Given the description of an element on the screen output the (x, y) to click on. 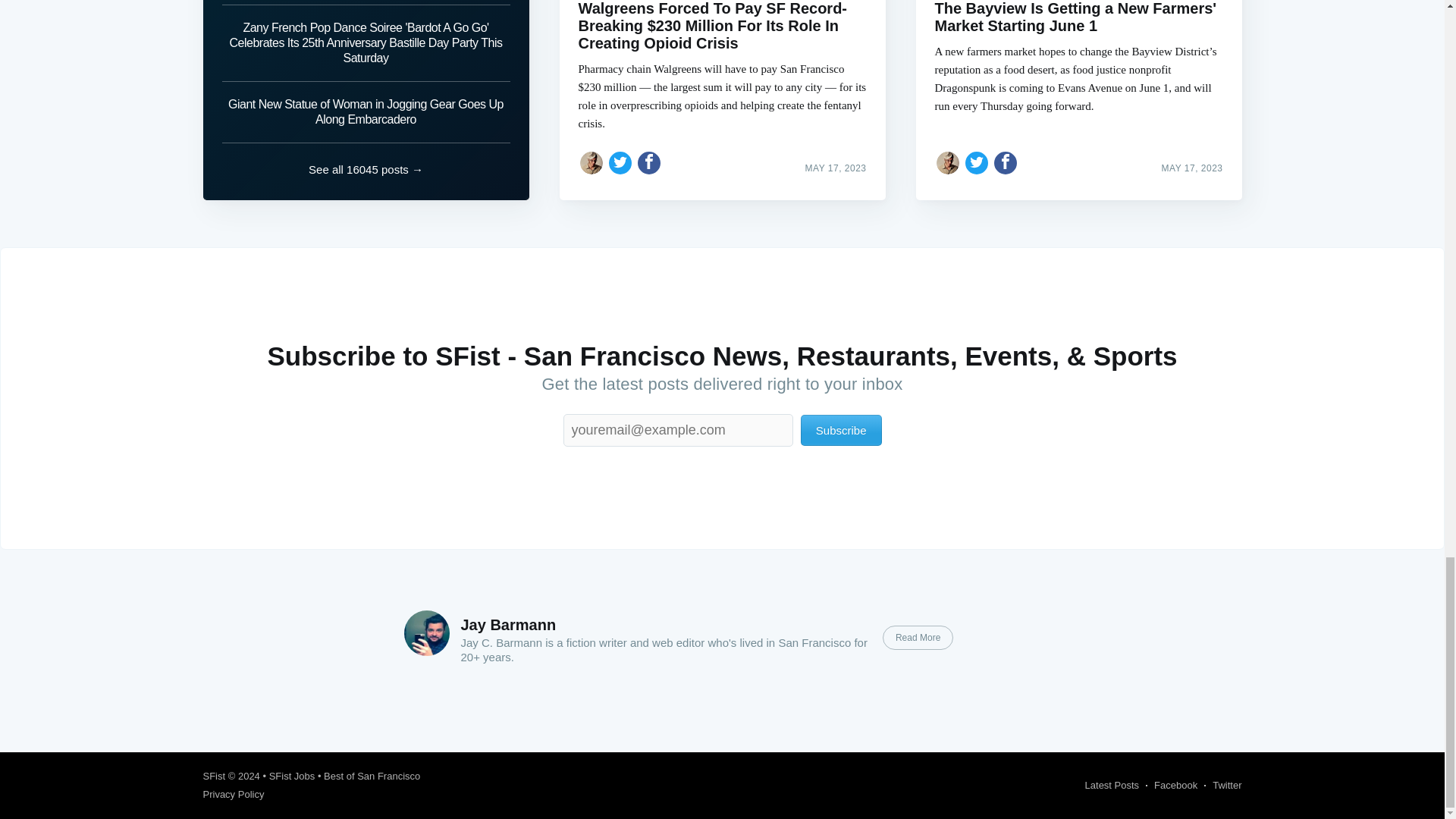
Share on Twitter (976, 162)
Subscribe (841, 429)
Share on Facebook (1004, 162)
Share on Facebook (649, 162)
Share on Twitter (620, 162)
